Given the description of an element on the screen output the (x, y) to click on. 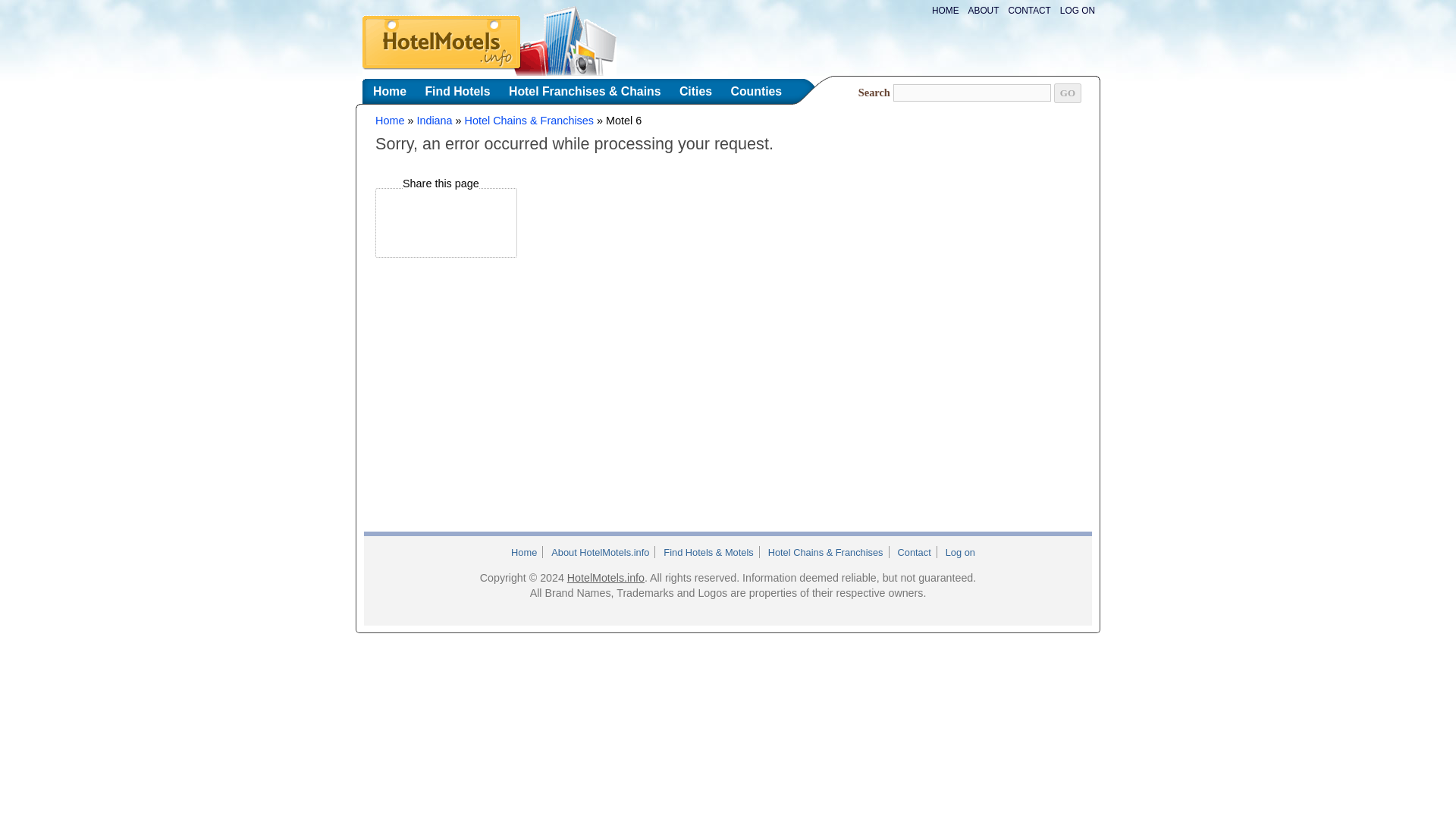
Home (389, 91)
Indiana (433, 120)
LOG ON (1077, 9)
Home (523, 551)
Counties (755, 91)
About HotelMotels.info (599, 551)
Advertisement (804, 222)
ABOUT (983, 9)
CONTACT (1028, 9)
HOME (945, 9)
